Given the description of an element on the screen output the (x, y) to click on. 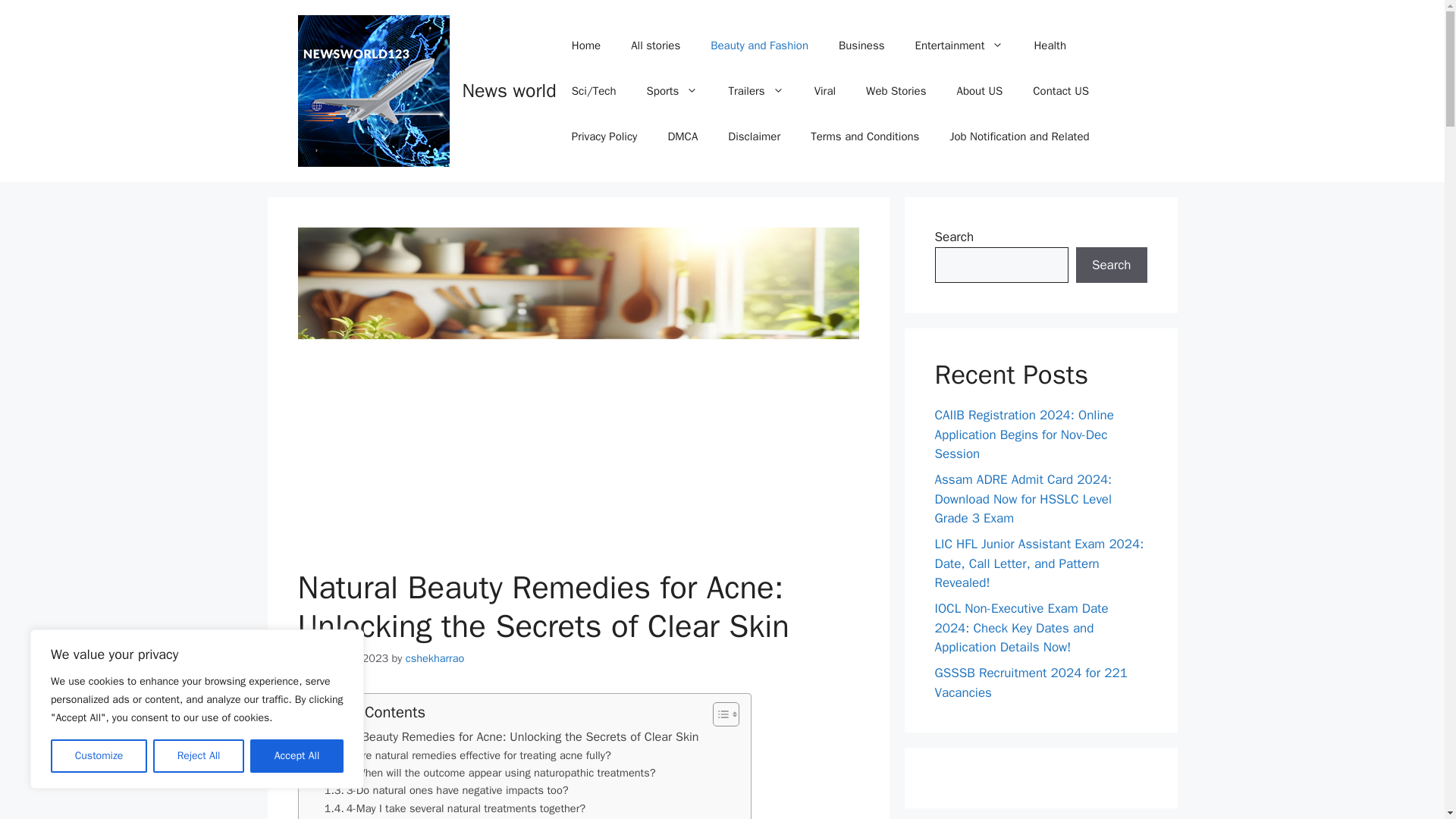
Customize (98, 756)
About US (978, 90)
Contact US (1060, 90)
All stories (655, 44)
Disclaimer (753, 135)
Home (585, 44)
DMCA (682, 135)
Job Notification and Related (1018, 135)
Privacy Policy (604, 135)
3-Do natural ones have negative impacts too? (446, 790)
